Given the description of an element on the screen output the (x, y) to click on. 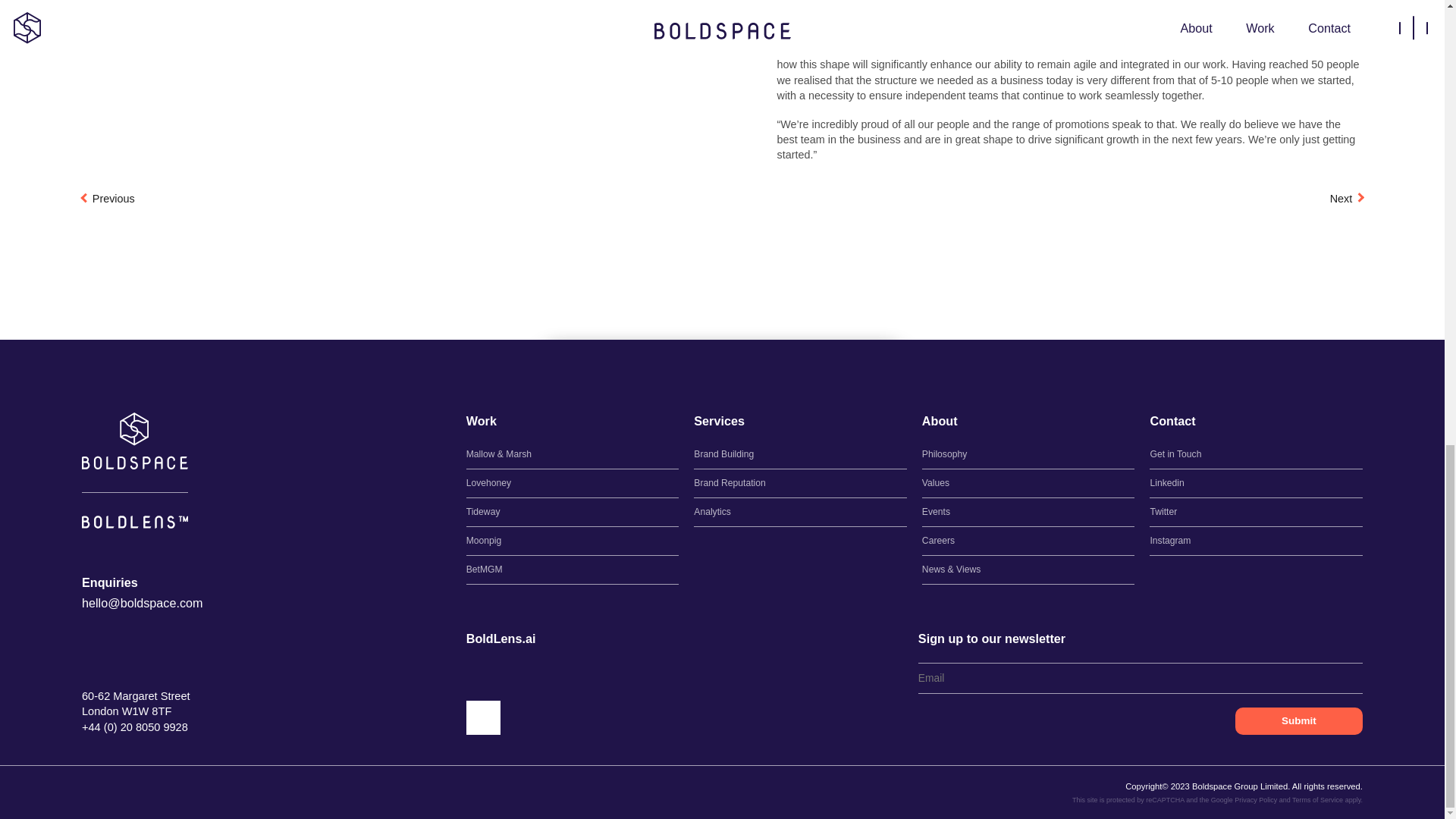
Services (719, 420)
Next (1346, 198)
Brand Building (800, 454)
Brand Reputation (800, 483)
Moonpig (572, 541)
Lovehoney (572, 483)
BetMGM (572, 569)
Previous (108, 198)
Work (480, 420)
Submit (1298, 720)
